Given the description of an element on the screen output the (x, y) to click on. 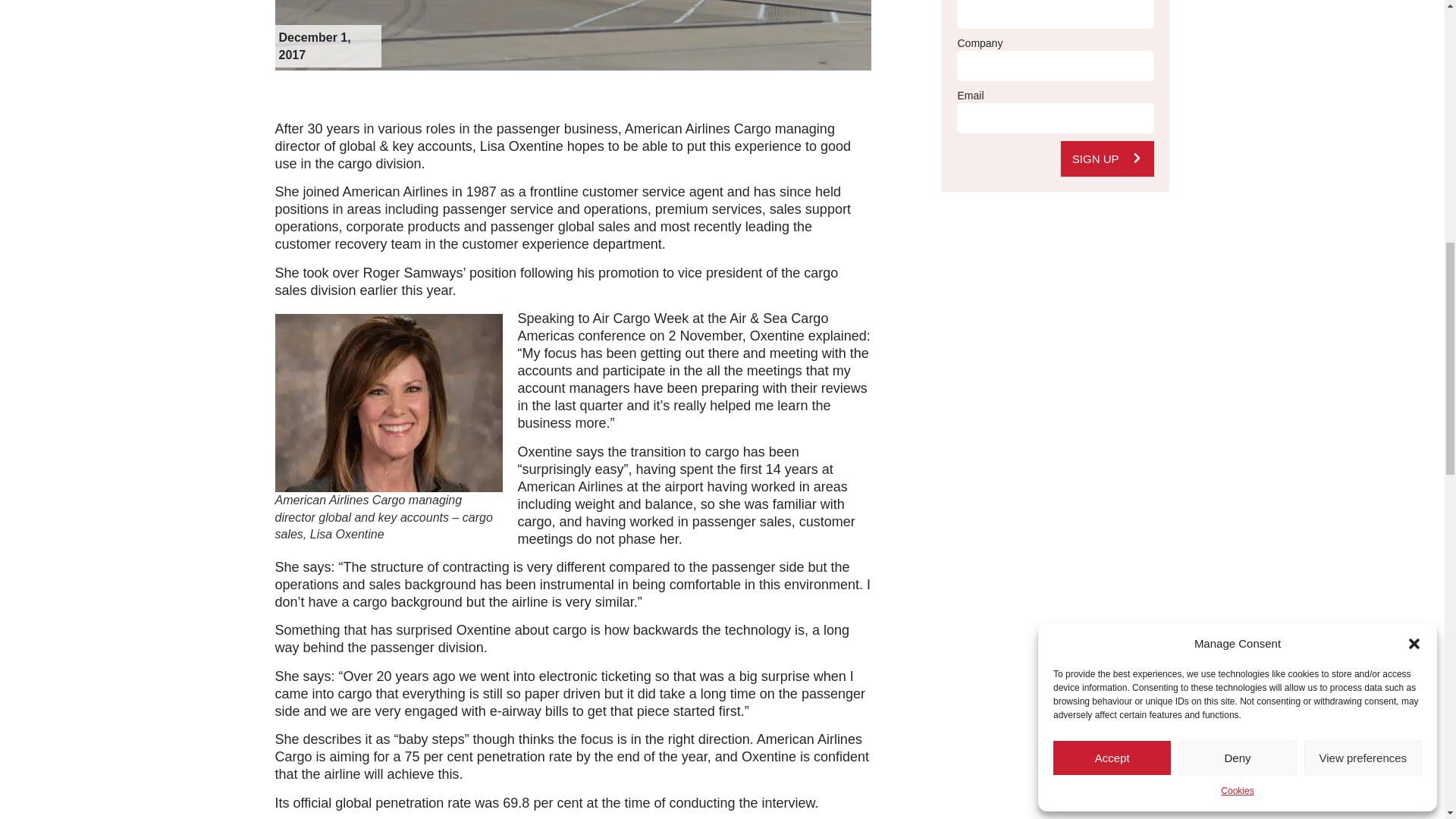
December 1, 2017 (325, 45)
SIGN UP (1107, 158)
